Given the description of an element on the screen output the (x, y) to click on. 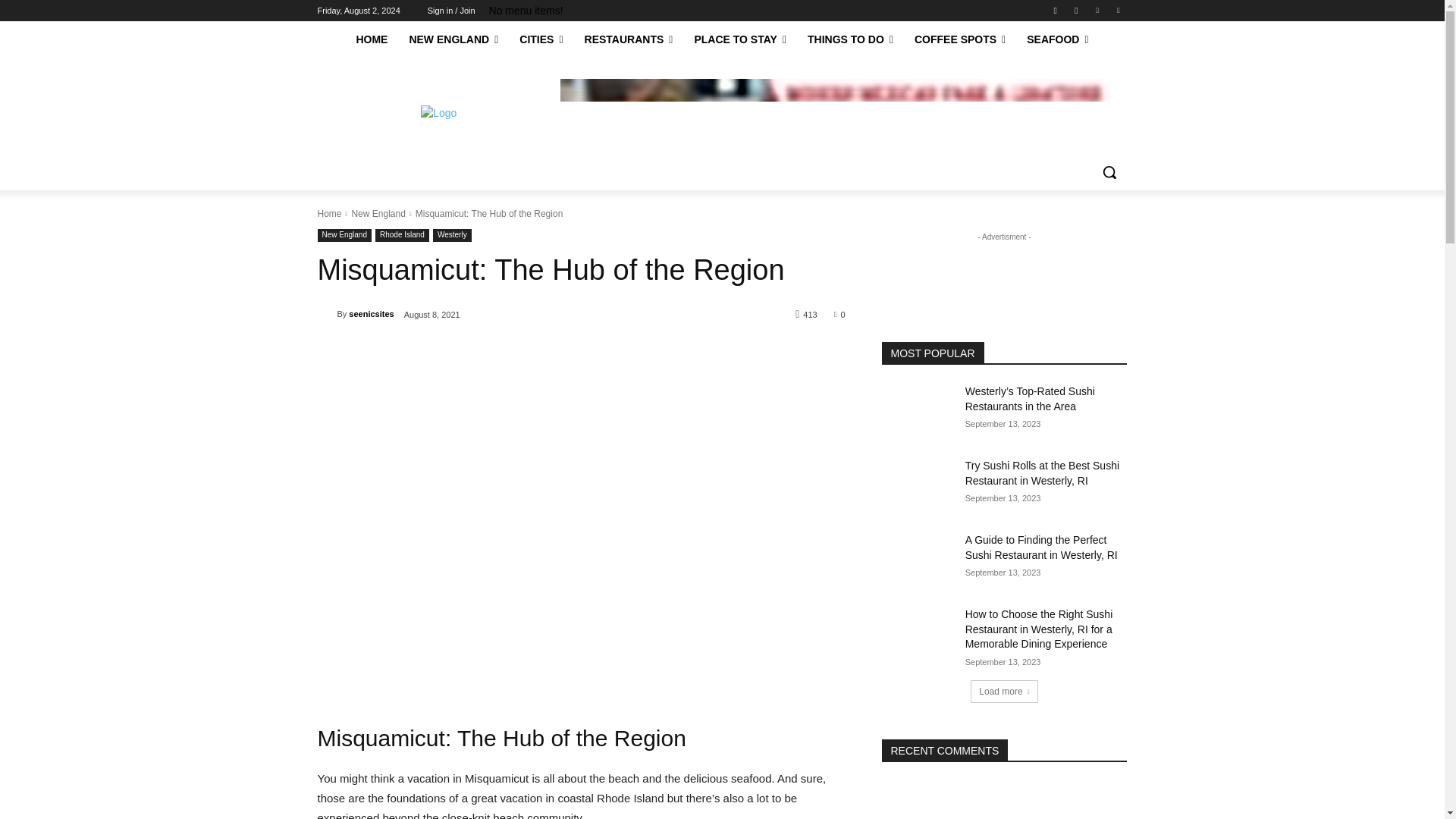
Instagram (1075, 9)
Pinterest (1117, 9)
Facebook (1055, 9)
HOME (371, 39)
NEW ENGLAND (452, 39)
Linkedin (1097, 9)
